Given the description of an element on the screen output the (x, y) to click on. 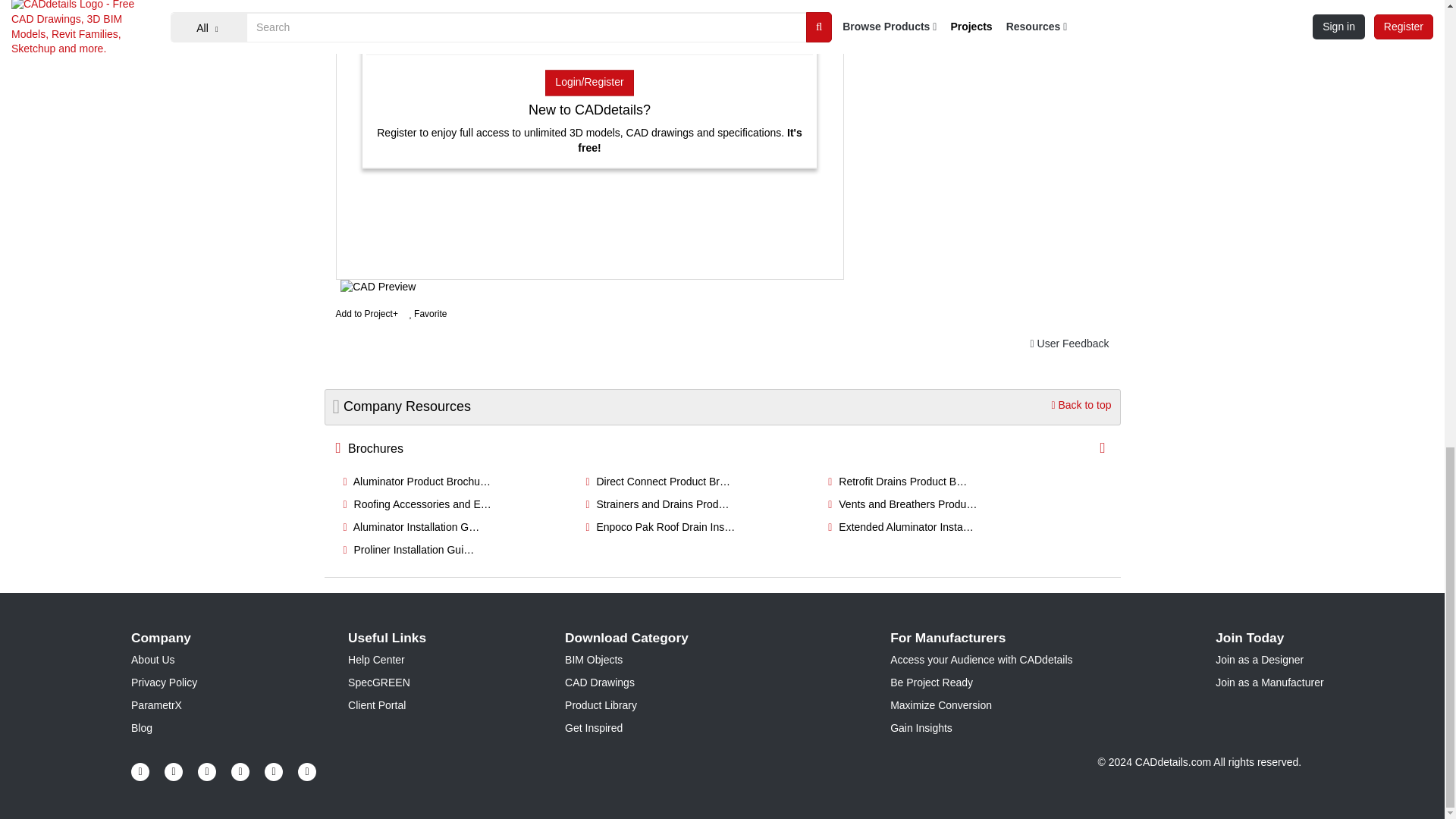
Direct Connect Product Brochure (657, 481)
Vents and Breathers Product Brochure  (902, 503)
Retrofit Drains Product Brochure  (897, 481)
Roofing Accessories and Equipment Product Brochure (416, 503)
Strainers and Drains Product Brochure (657, 503)
Aluminator Product Brochure (416, 481)
